Given the description of an element on the screen output the (x, y) to click on. 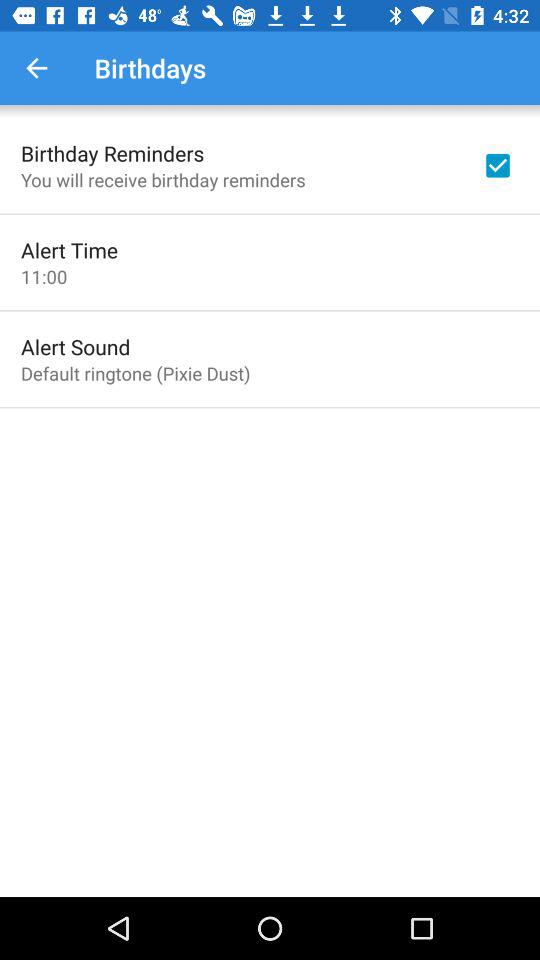
click the icon above default ringtone pixie item (75, 346)
